Given the description of an element on the screen output the (x, y) to click on. 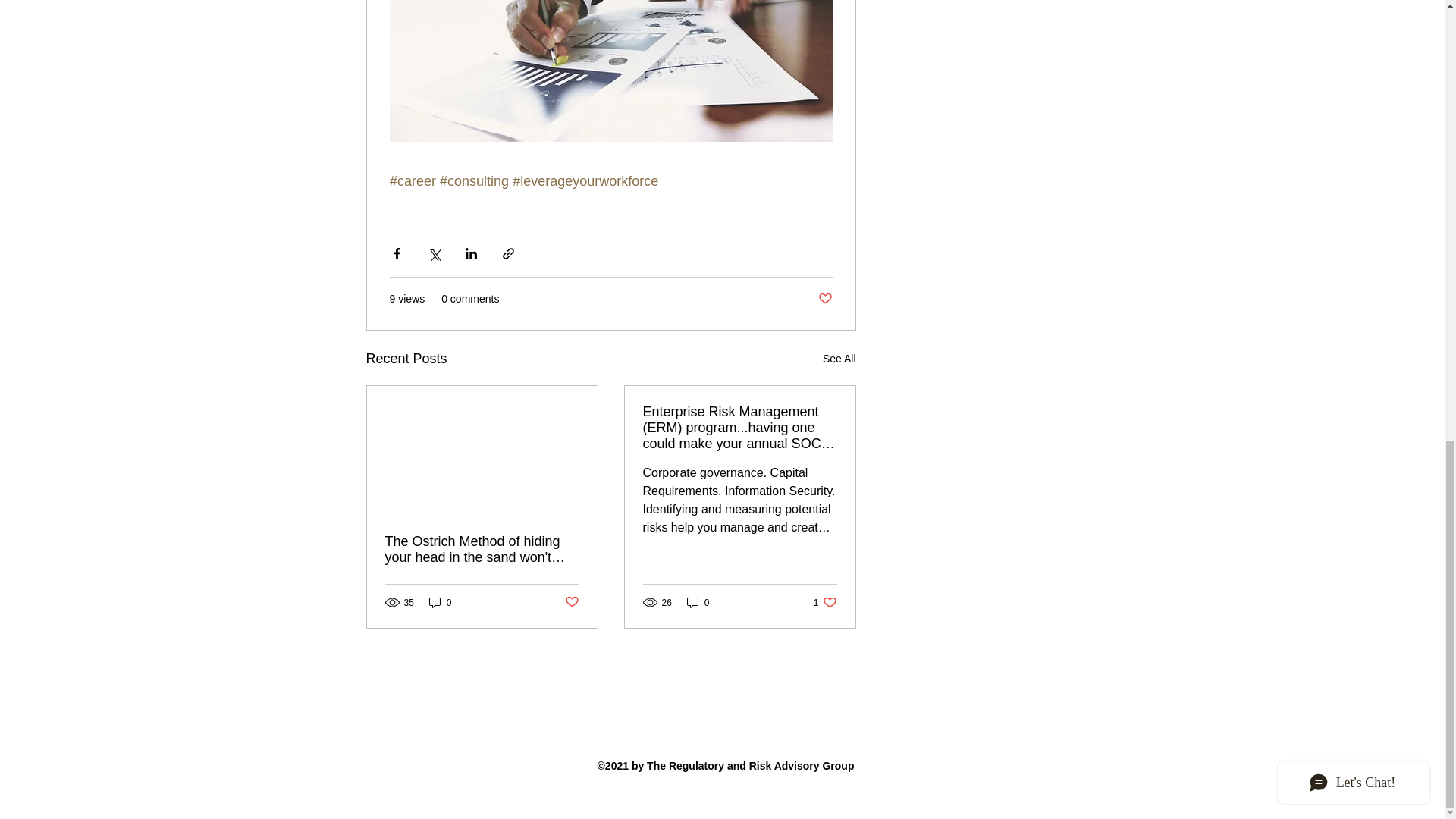
0 (825, 602)
0 (698, 602)
See All (440, 602)
Post not marked as liked (839, 359)
Post not marked as liked (823, 299)
